Given the description of an element on the screen output the (x, y) to click on. 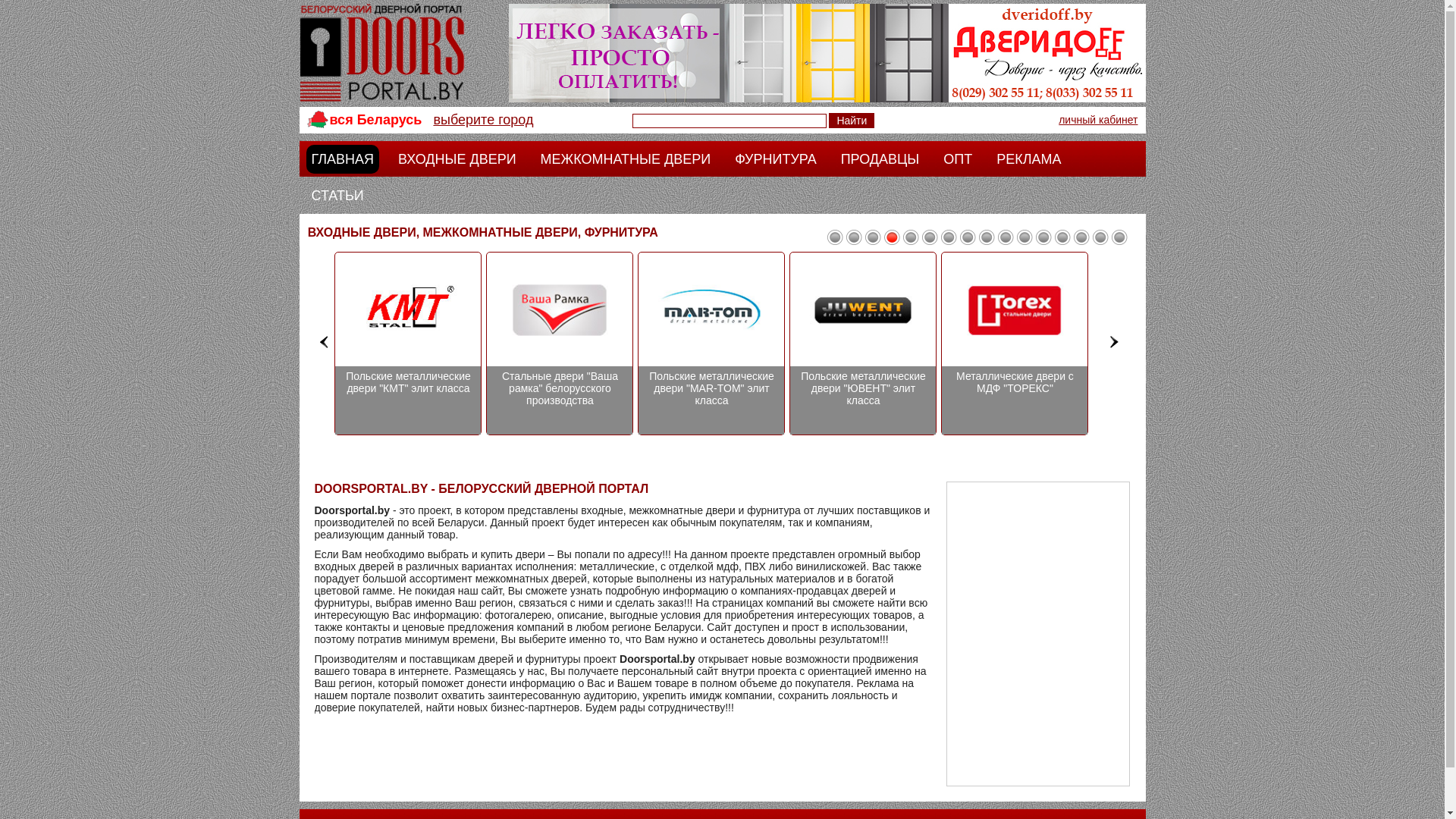
> Element type: text (1114, 341)
Advertisement Element type: hover (1038, 633)
< Element type: text (324, 341)
